Given the description of an element on the screen output the (x, y) to click on. 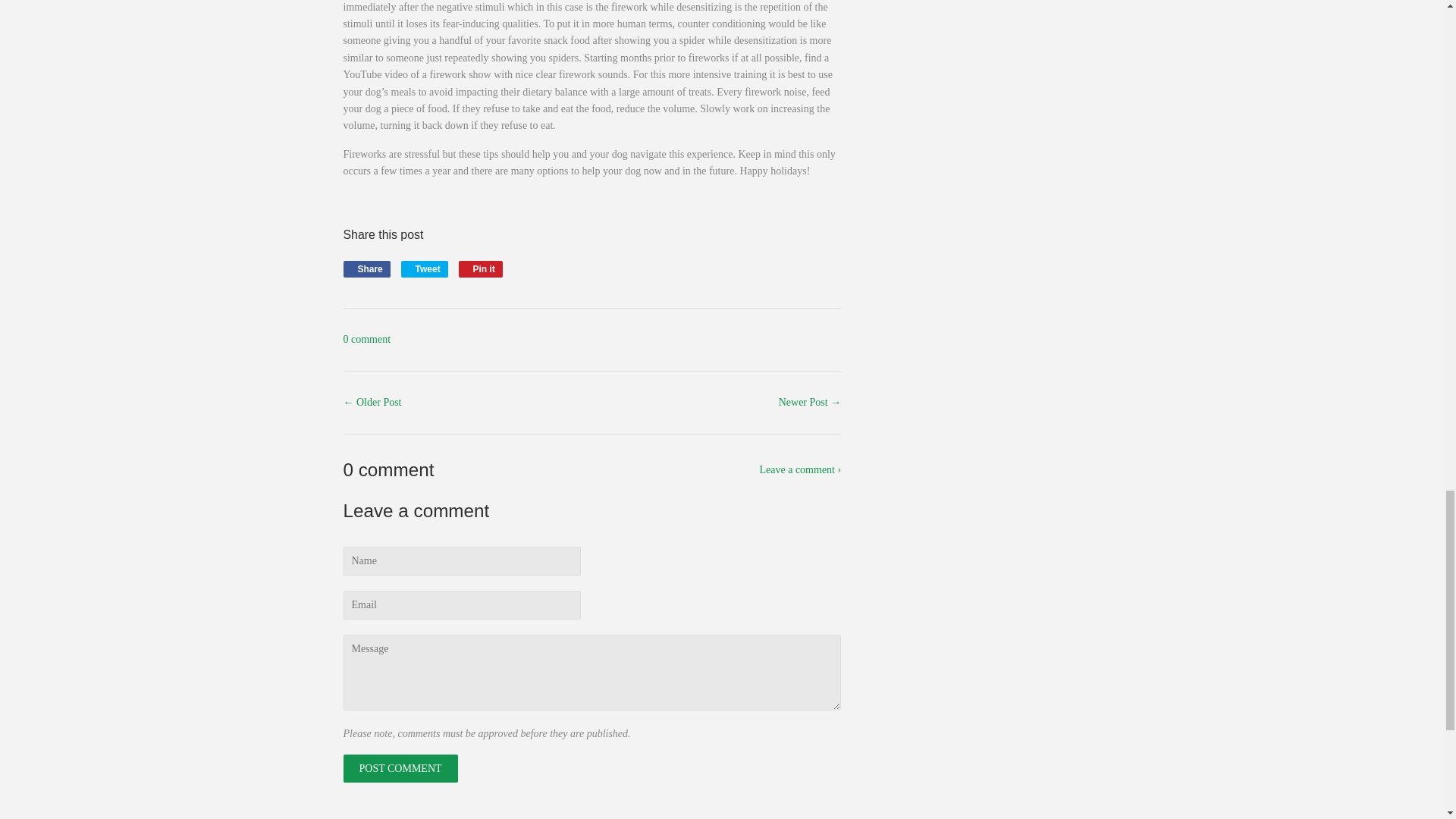
Post comment (399, 768)
Tweet on Twitter (424, 269)
Post comment (480, 269)
Share on Facebook (366, 269)
0 comment (399, 768)
Pin on Pinterest (366, 269)
